Given the description of an element on the screen output the (x, y) to click on. 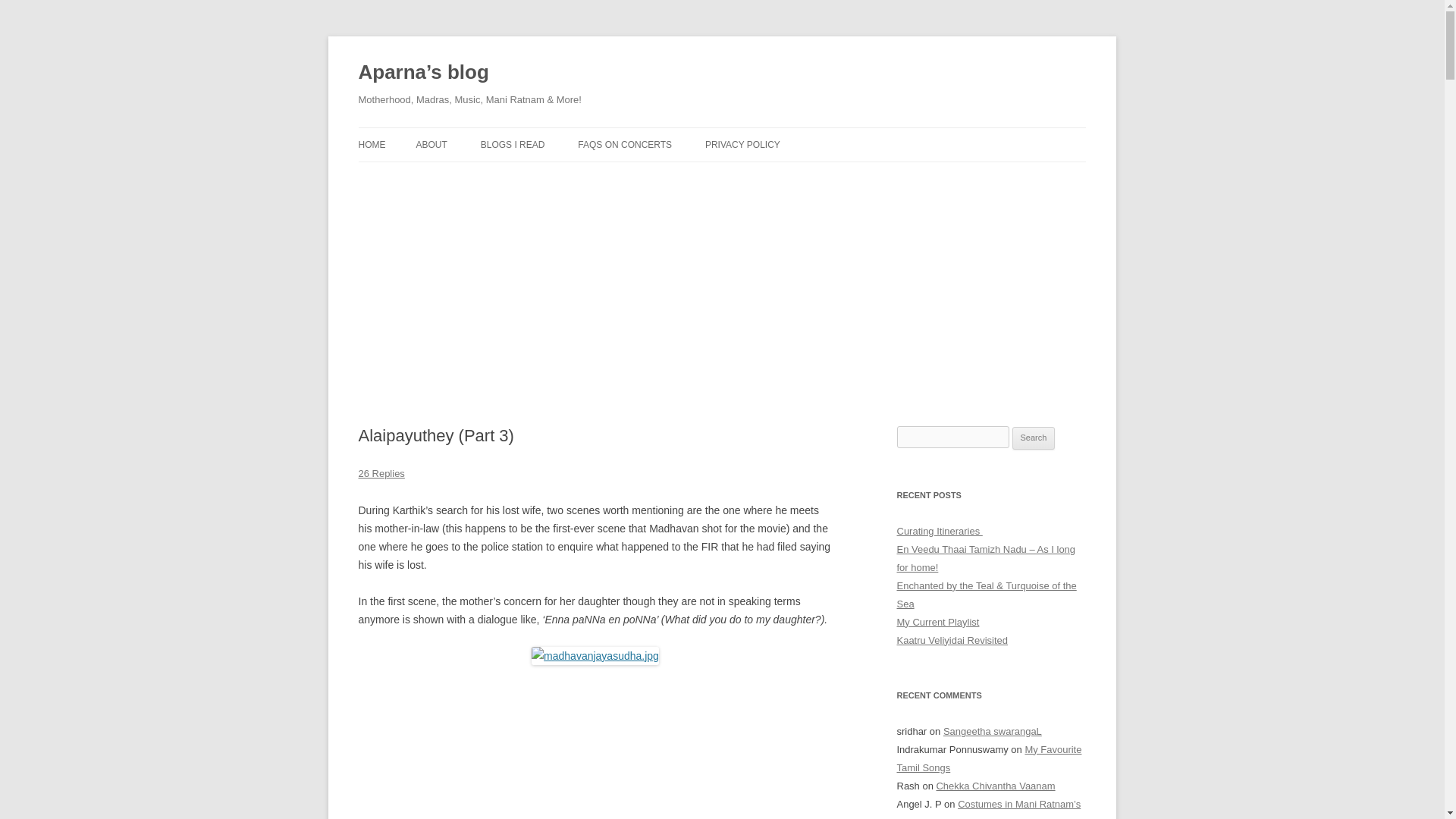
Search (1033, 437)
BLOGS I READ (512, 144)
26 Replies (381, 473)
FAQS ON CONCERTS (624, 144)
PRIVACY POLICY (742, 144)
ABOUT (430, 144)
madhavanjayasudha.jpg (595, 655)
